Given the description of an element on the screen output the (x, y) to click on. 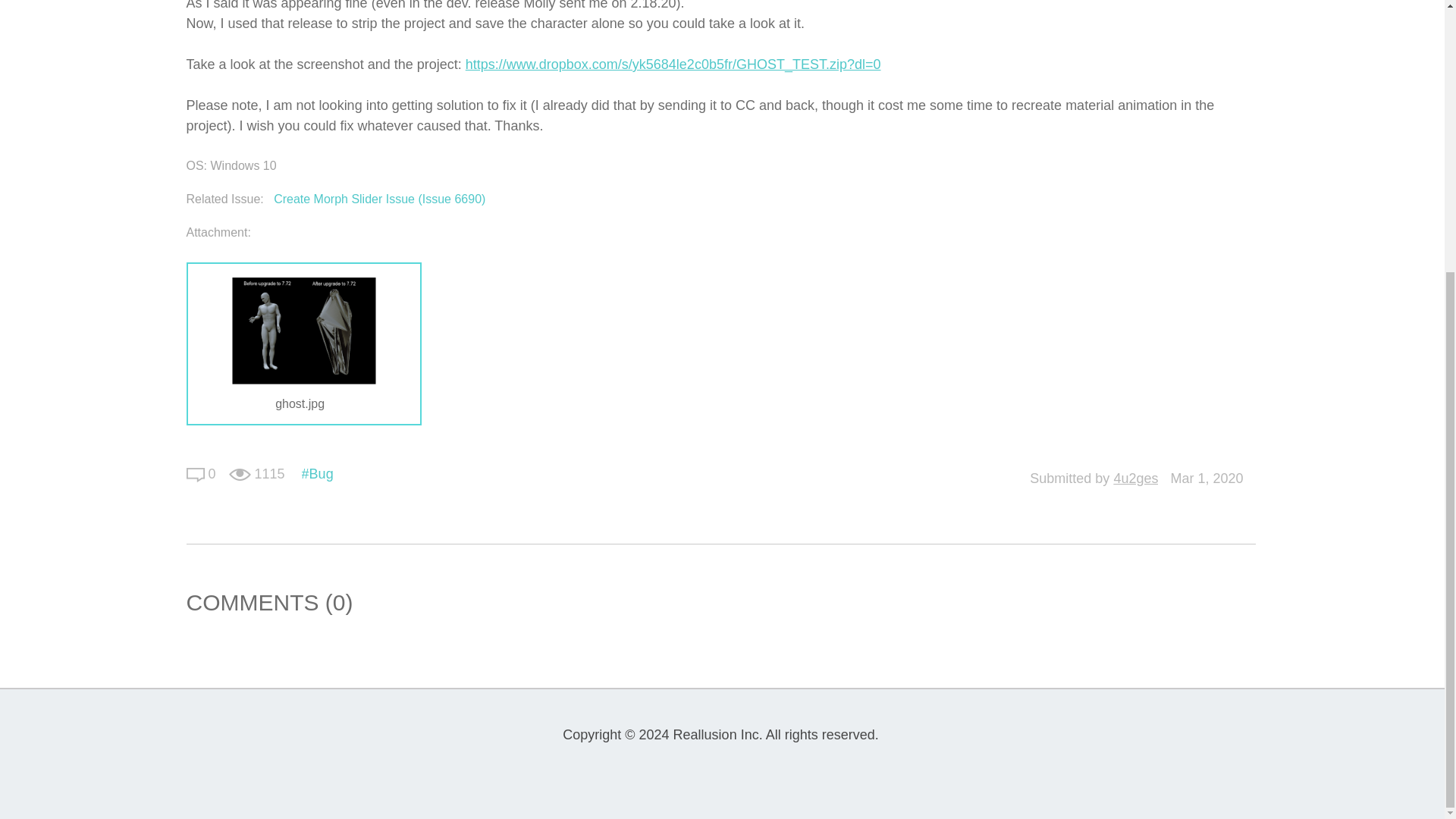
ghost.jpg (304, 404)
Bug (317, 473)
Comments (195, 474)
ghost.jpg (303, 330)
Views (239, 474)
ghost.jpg (304, 404)
